Given the description of an element on the screen output the (x, y) to click on. 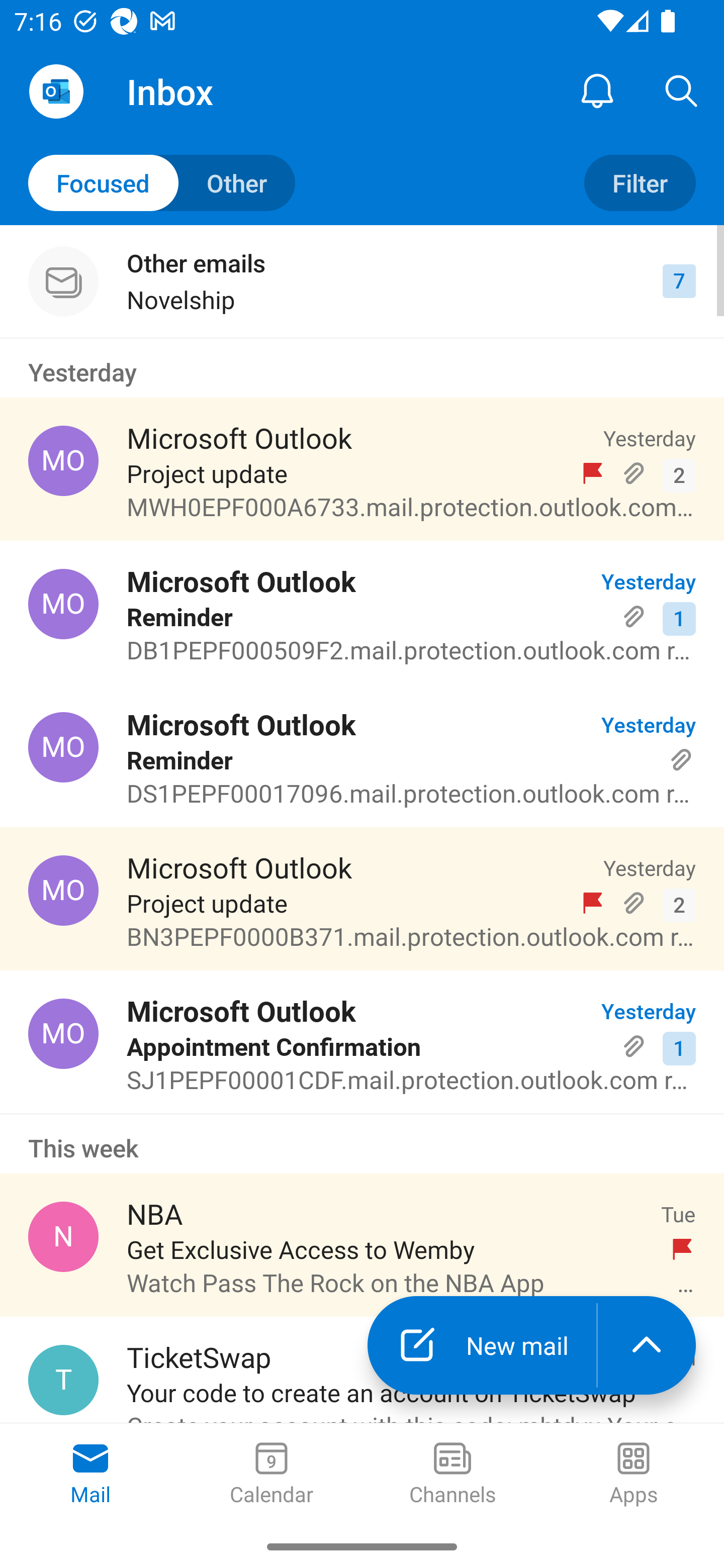
Notification Center (597, 90)
Search, ,  (681, 90)
Open Navigation Drawer (55, 91)
Toggle to other mails (161, 183)
Filter (639, 183)
Other emails Novelship 7 (362, 281)
NBA, NBA@email.nba.com (63, 1236)
New mail (481, 1344)
launch the extended action menu (646, 1344)
TicketSwap, info@ticketswap.com (63, 1380)
Calendar (271, 1474)
Channels (452, 1474)
Apps (633, 1474)
